Given the description of an element on the screen output the (x, y) to click on. 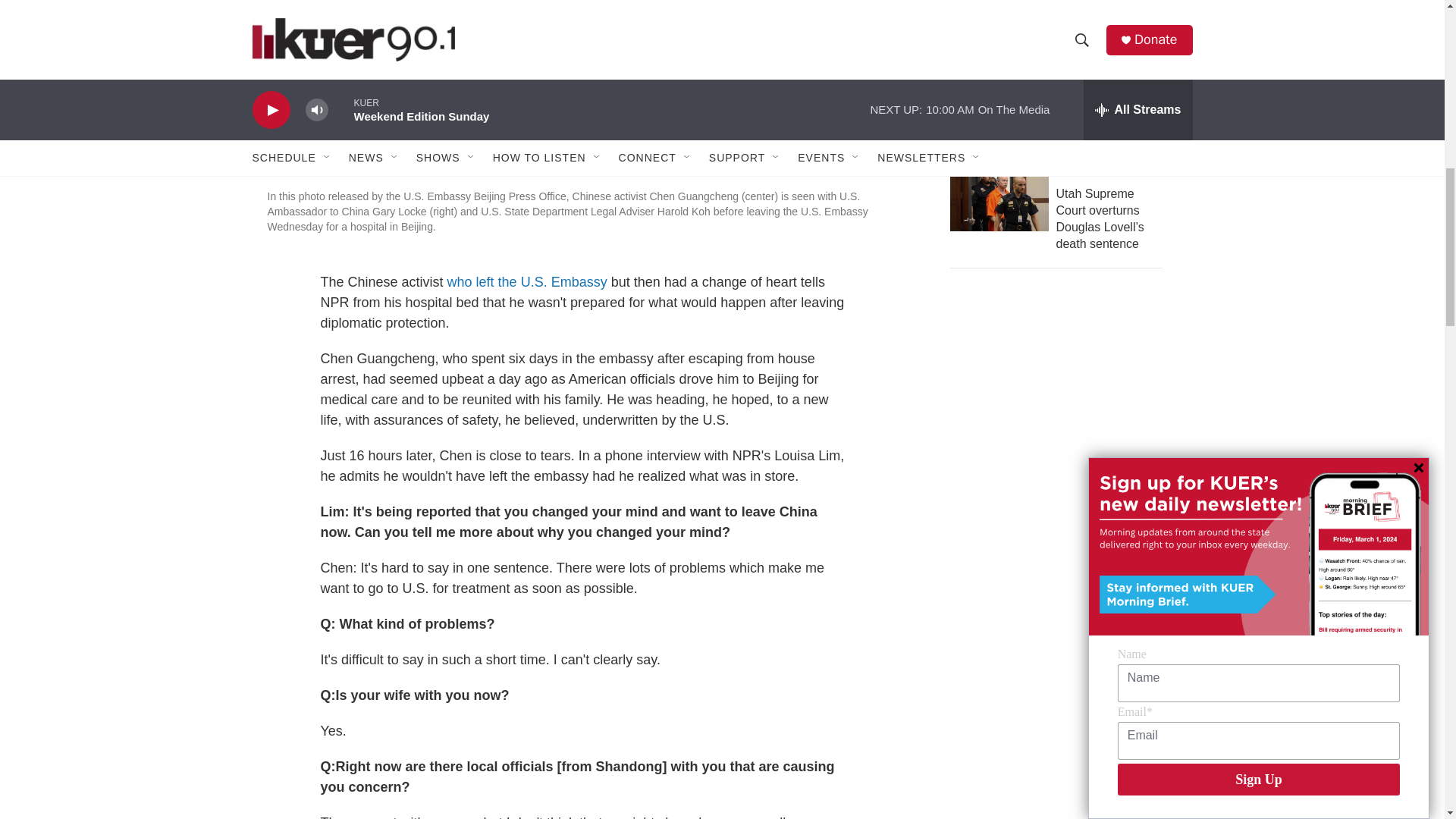
3rd party ad content (1062, 669)
3rd party ad content (1062, 412)
